Given the description of an element on the screen output the (x, y) to click on. 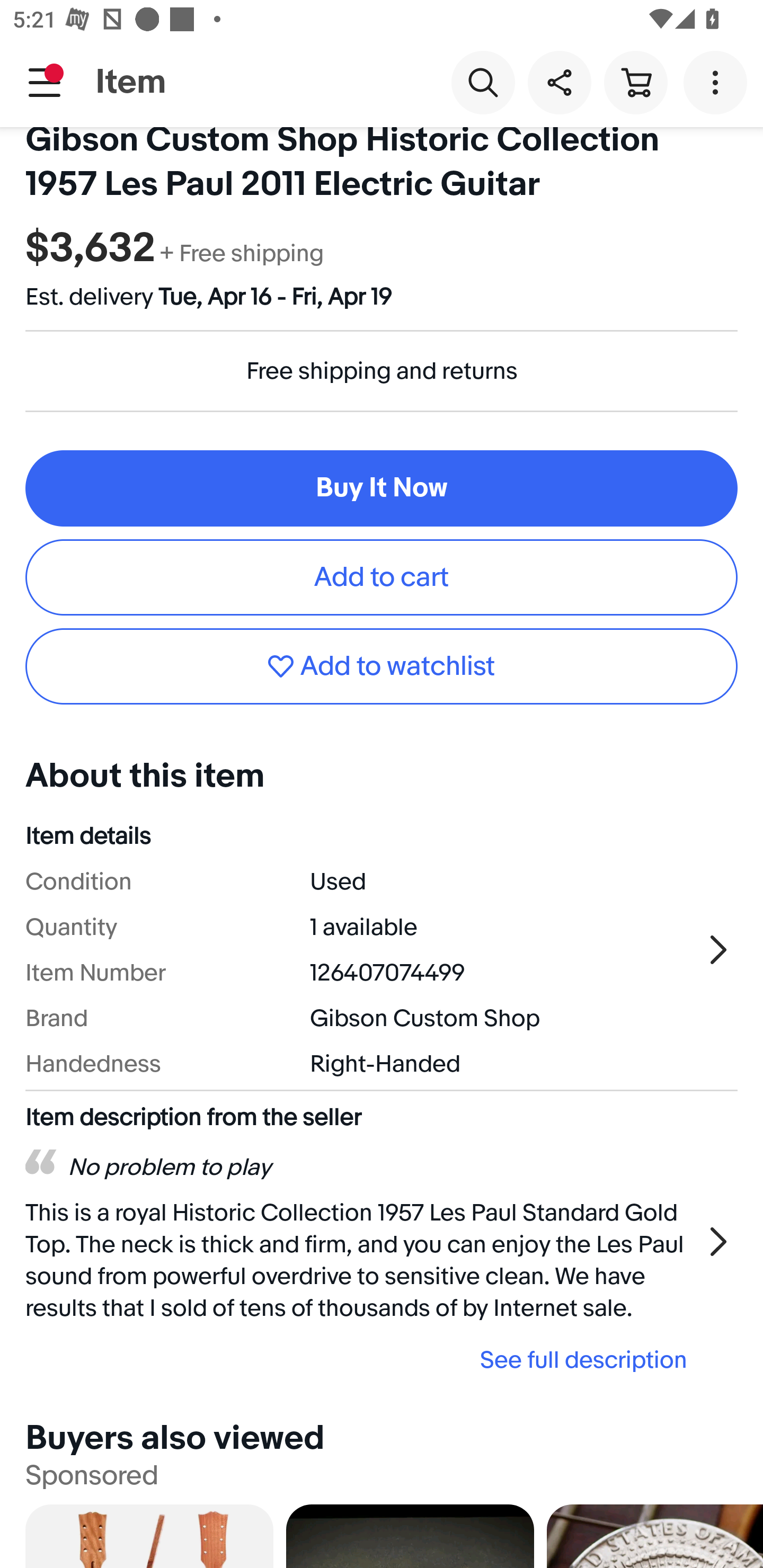
Main navigation, notification is pending, open (44, 82)
Search (482, 81)
Share this item (559, 81)
Cart button shopping cart (635, 81)
More options (718, 81)
Buy It Now (381, 488)
Add to cart (381, 577)
Add to watchlist (381, 666)
See full description (362, 1359)
